Given the description of an element on the screen output the (x, y) to click on. 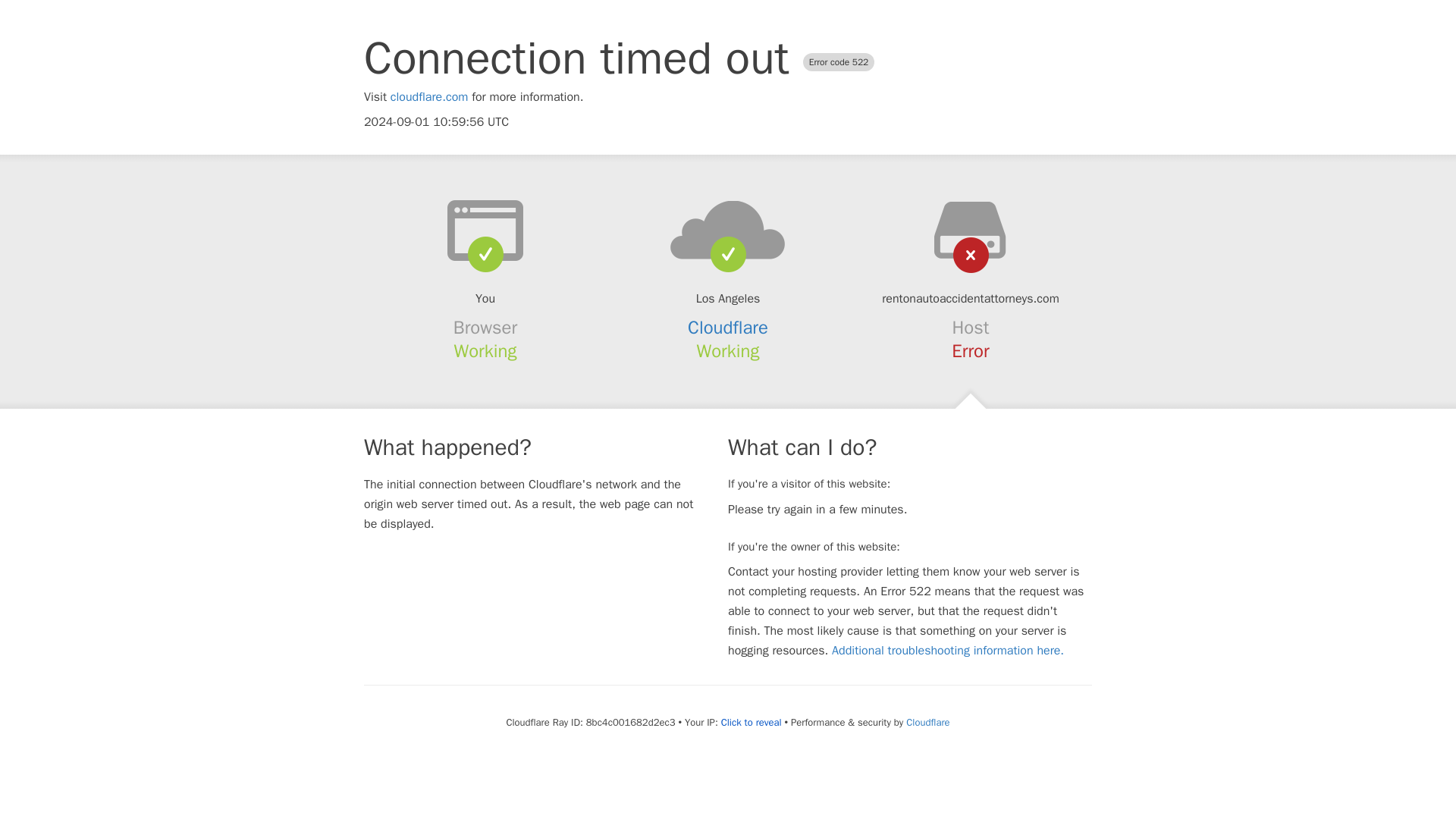
Click to reveal (750, 722)
Cloudflare (727, 327)
cloudflare.com (429, 96)
Additional troubleshooting information here. (947, 650)
Cloudflare (927, 721)
